Given the description of an element on the screen output the (x, y) to click on. 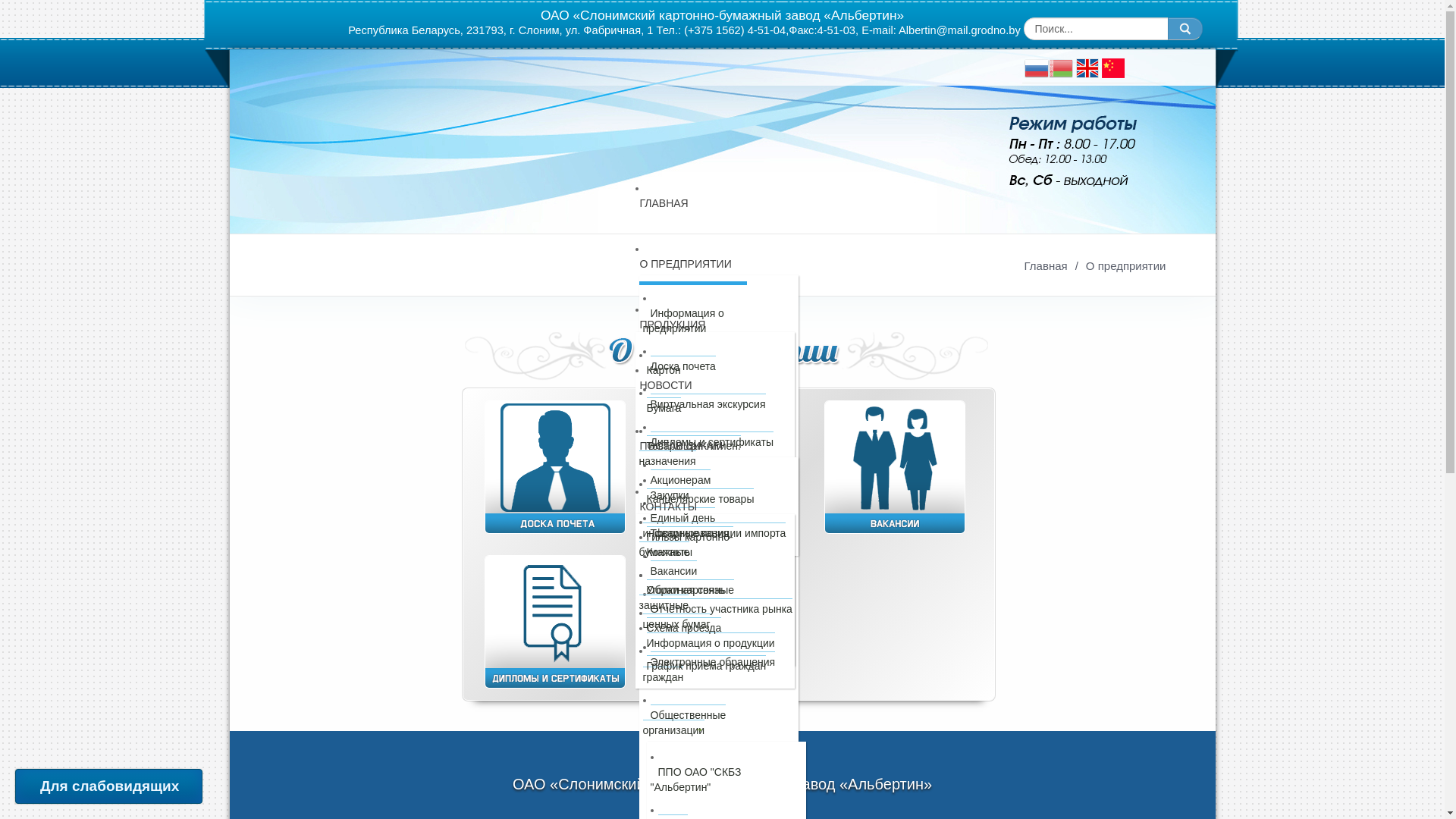
English language Element type: hover (1086, 67)
Belarusian Element type: hover (1060, 67)
Russian Element type: hover (1035, 67)
Chinese Element type: hover (1112, 67)
